Given the description of an element on the screen output the (x, y) to click on. 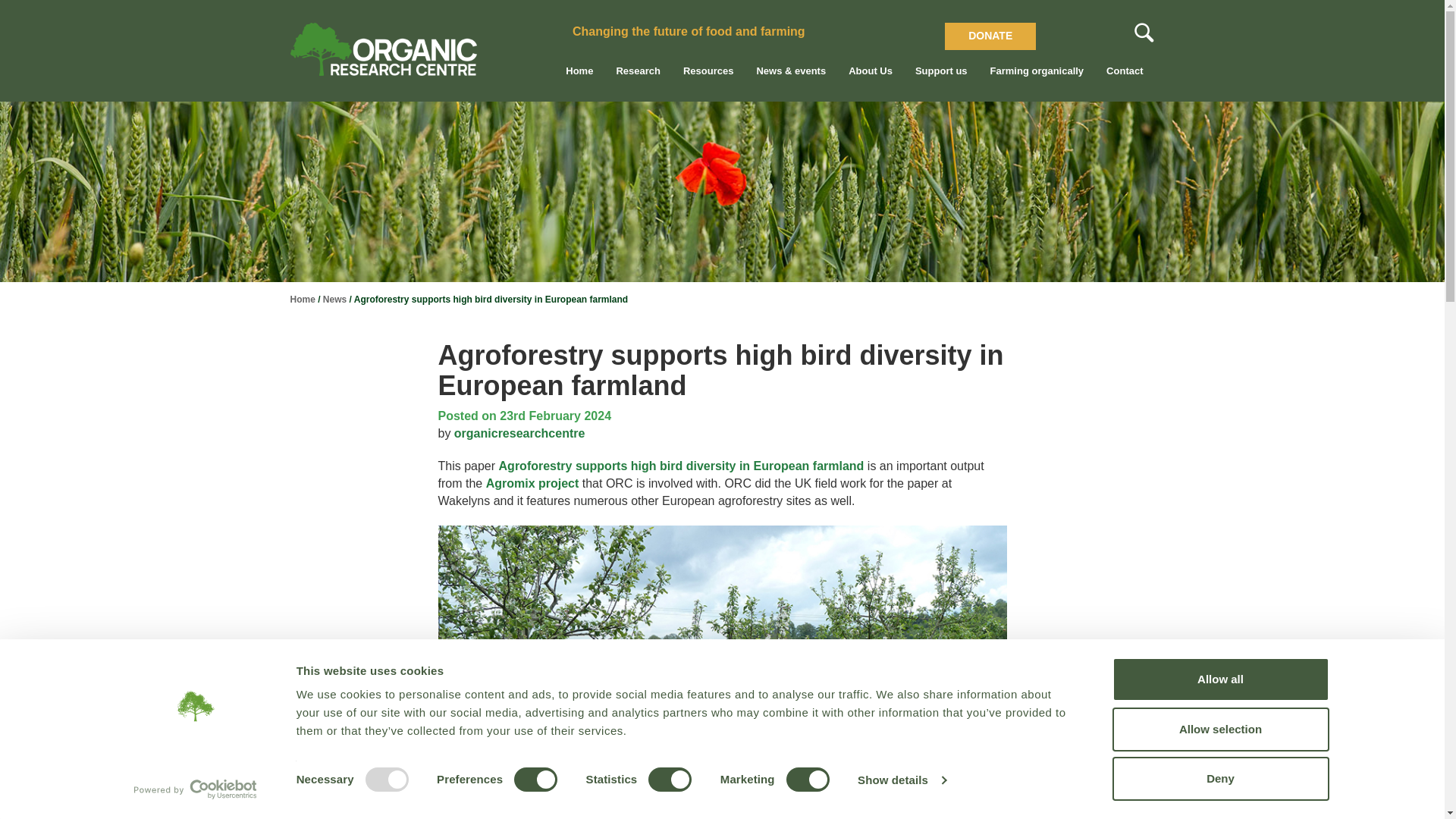
Show details (900, 780)
